Given the description of an element on the screen output the (x, y) to click on. 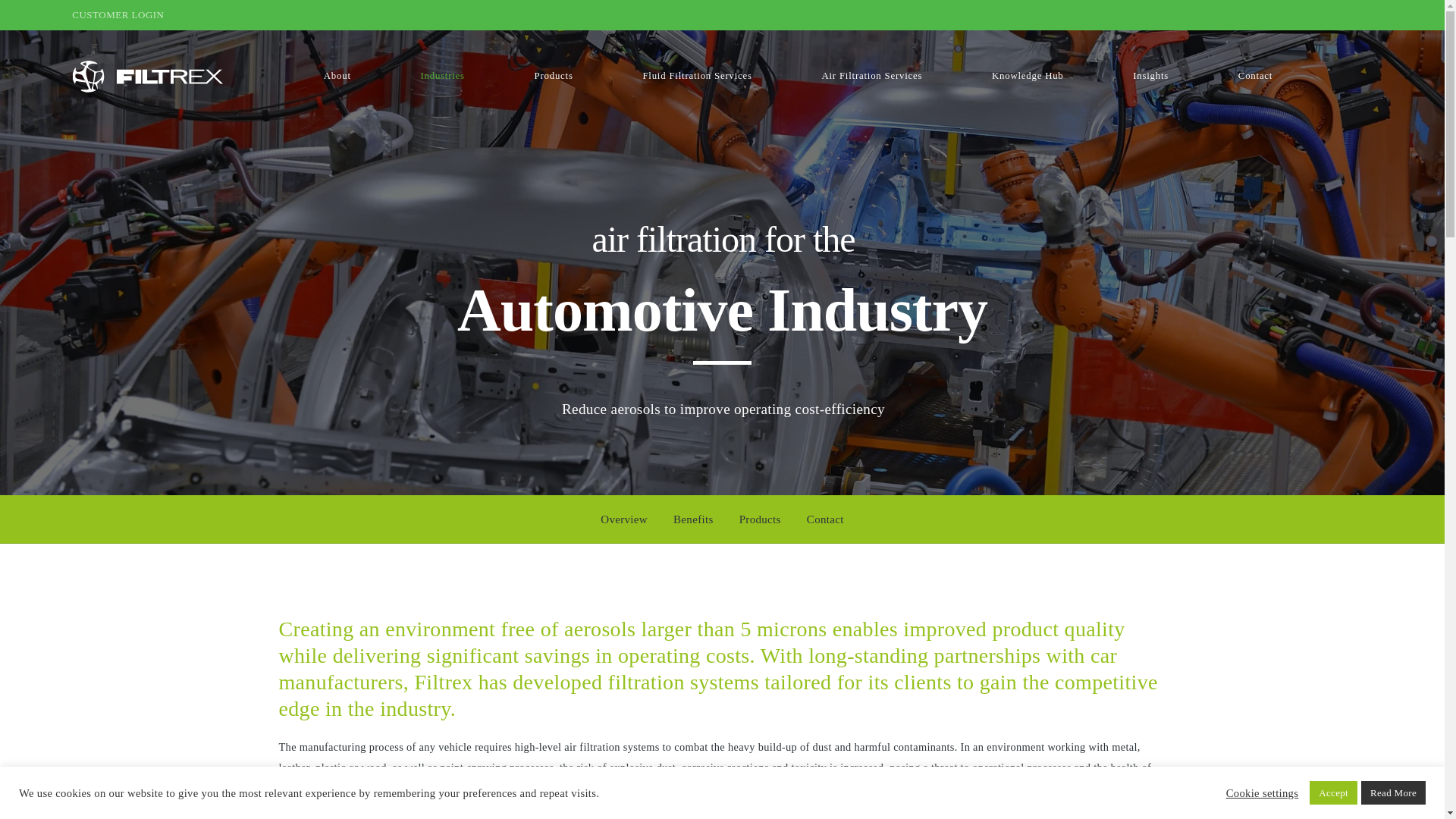
Air Filtration Services (871, 75)
Contact (1255, 75)
Insights (1150, 75)
Knowledge Hub (1026, 75)
CUSTOMER LOGIN (117, 14)
Industries (442, 75)
About (336, 75)
Fluid Filtration Services (697, 75)
Products (553, 75)
